Given the description of an element on the screen output the (x, y) to click on. 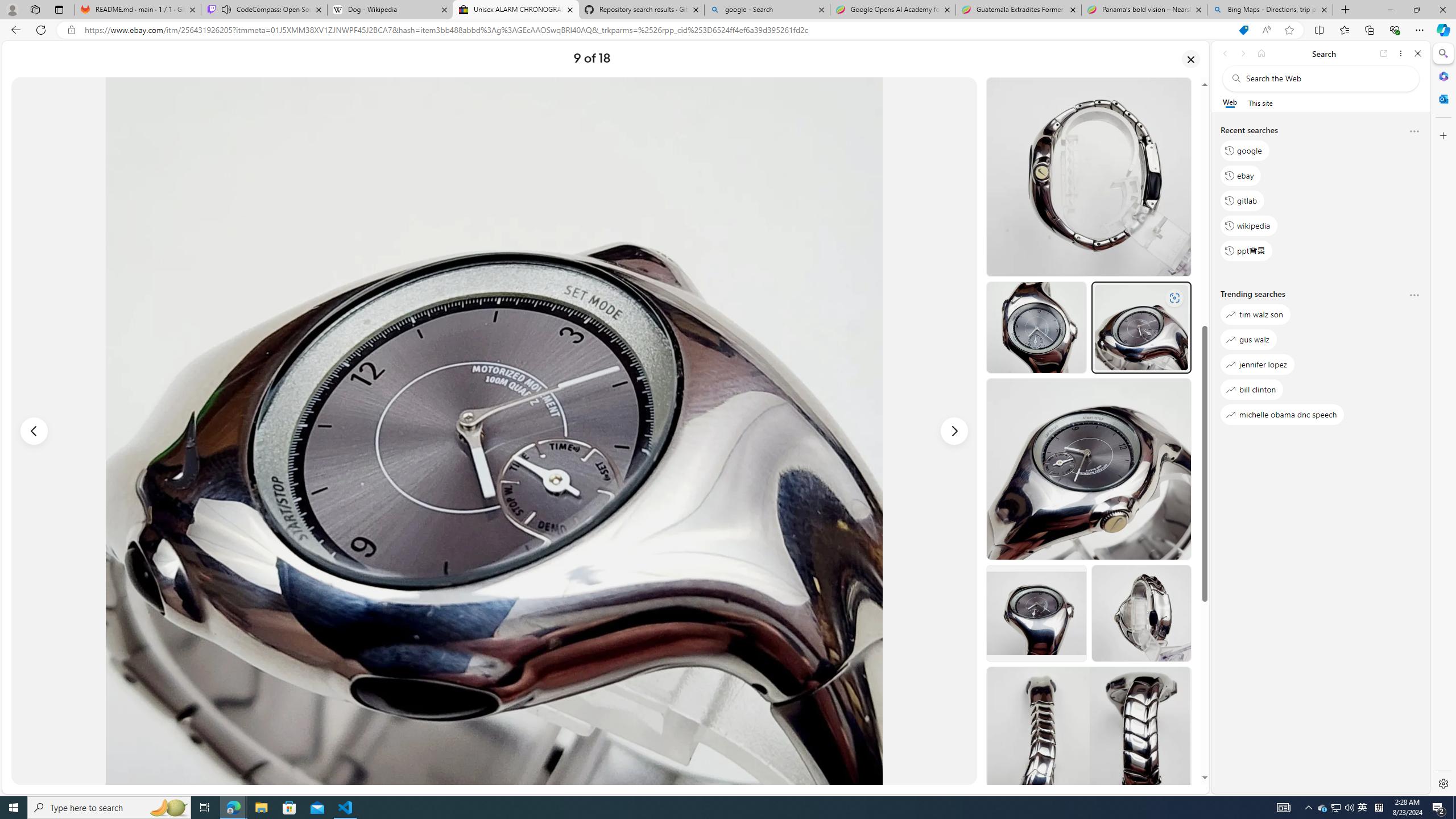
You have the best price! Shopping in Microsoft Edge (1243, 29)
Previous image - Item images thumbnails (34, 430)
bill clinton (1252, 389)
Google Opens AI Academy for Startups - Nearshore Americas (892, 9)
gitlab (1242, 200)
Mute tab (226, 8)
